Given the description of an element on the screen output the (x, y) to click on. 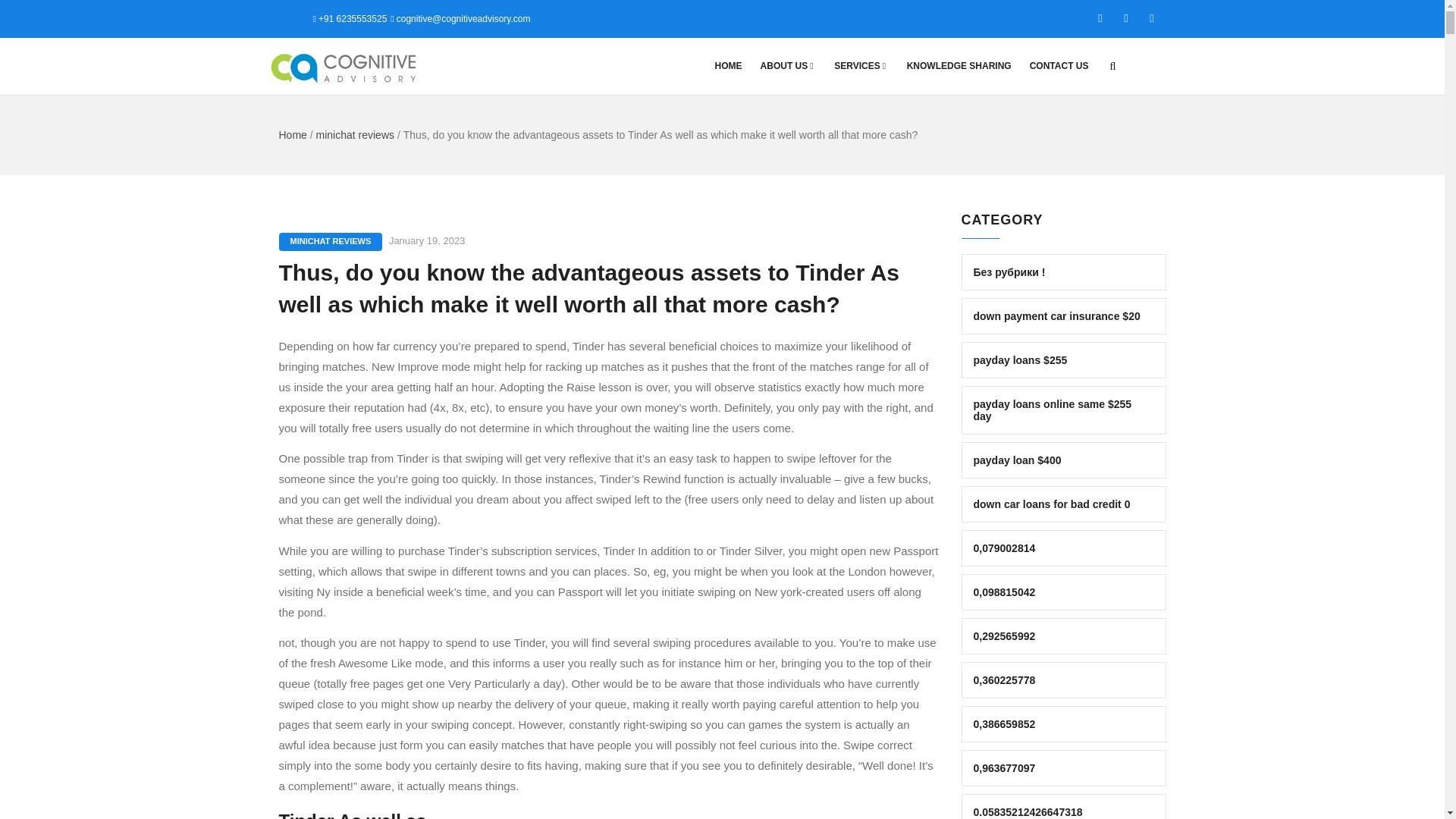
SERVICES (860, 66)
MINICHAT REVIEWS (330, 241)
KNOWLEDGE SHARING (959, 66)
CONTACT US (1058, 66)
Home (293, 134)
ABOUT US (788, 66)
January 19, 2023 (426, 240)
minichat reviews (354, 134)
